Given the description of an element on the screen output the (x, y) to click on. 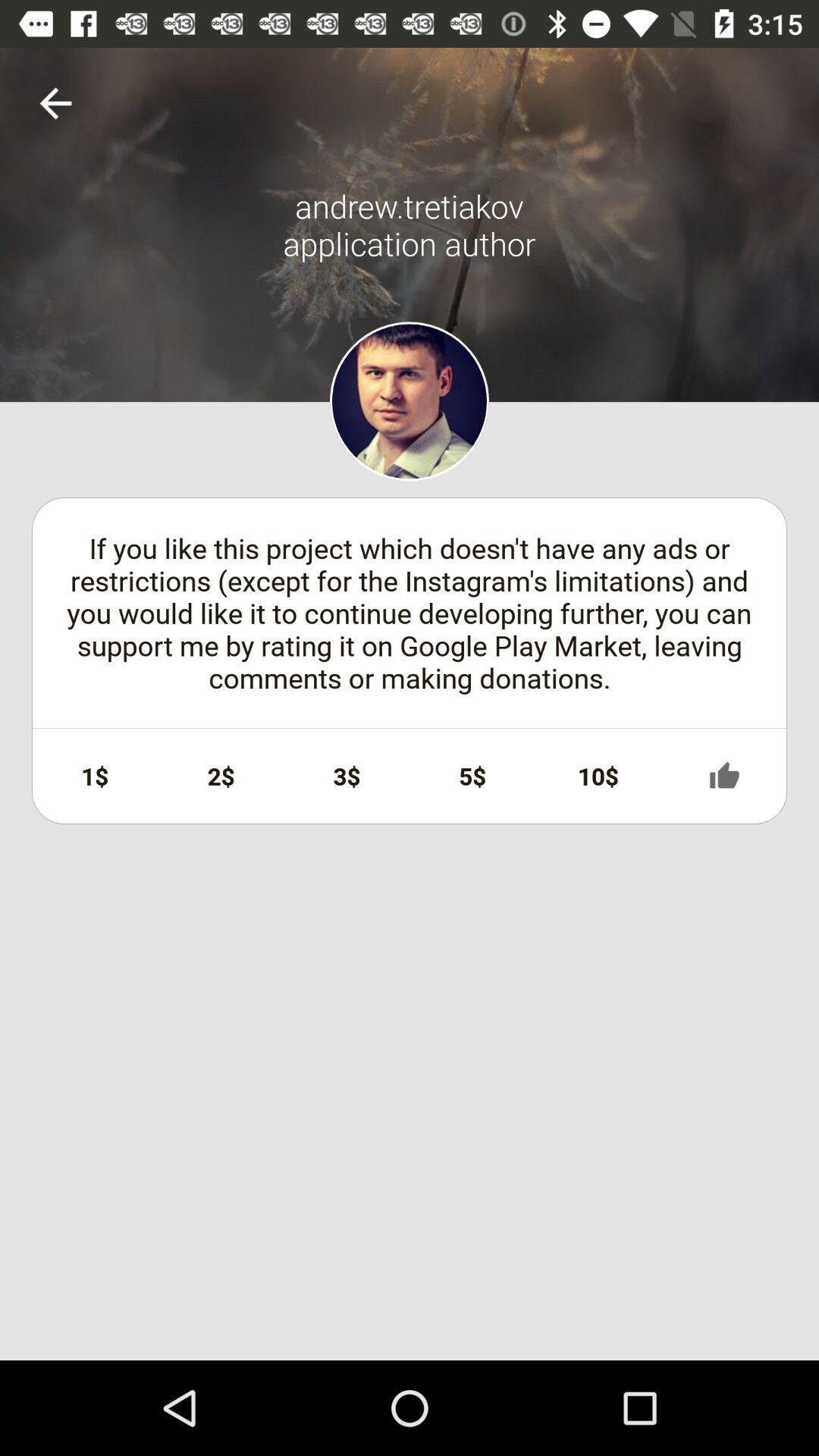
swipe to the 5$ item (472, 776)
